Given the description of an element on the screen output the (x, y) to click on. 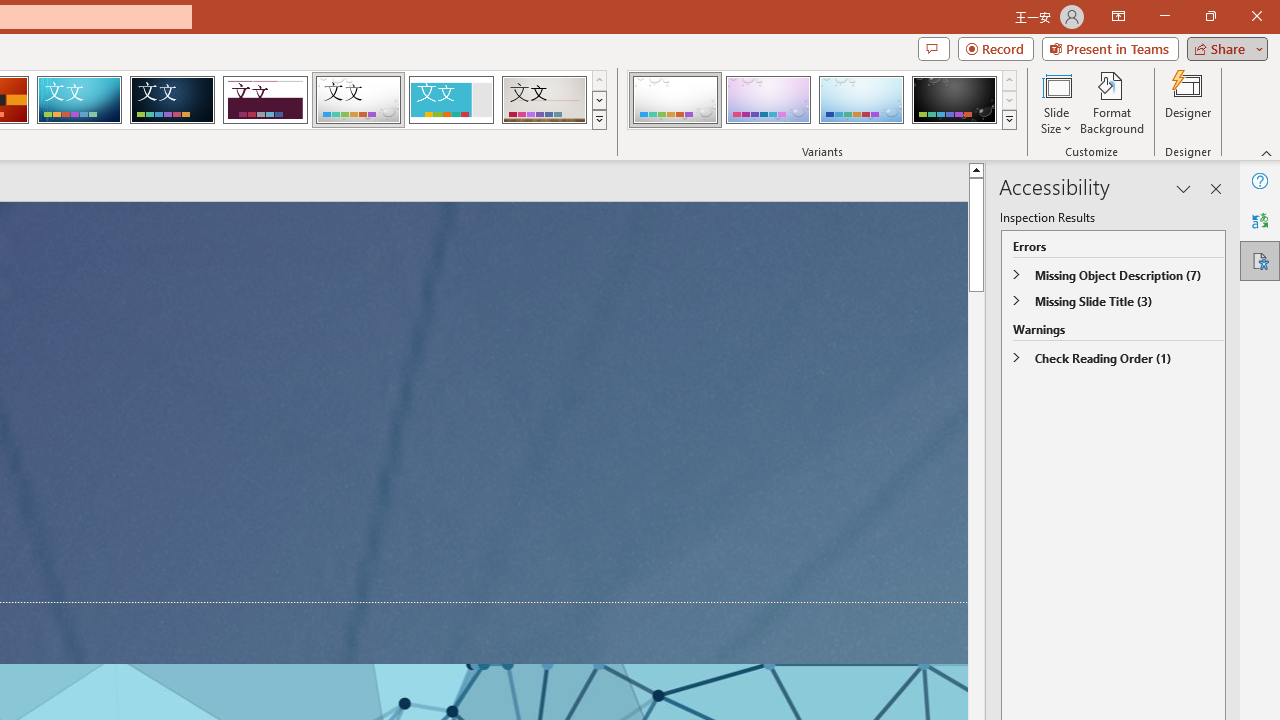
Frame (450, 100)
Droplet Variant 2 (768, 100)
Droplet (358, 100)
Circuit (79, 100)
